Given the description of an element on the screen output the (x, y) to click on. 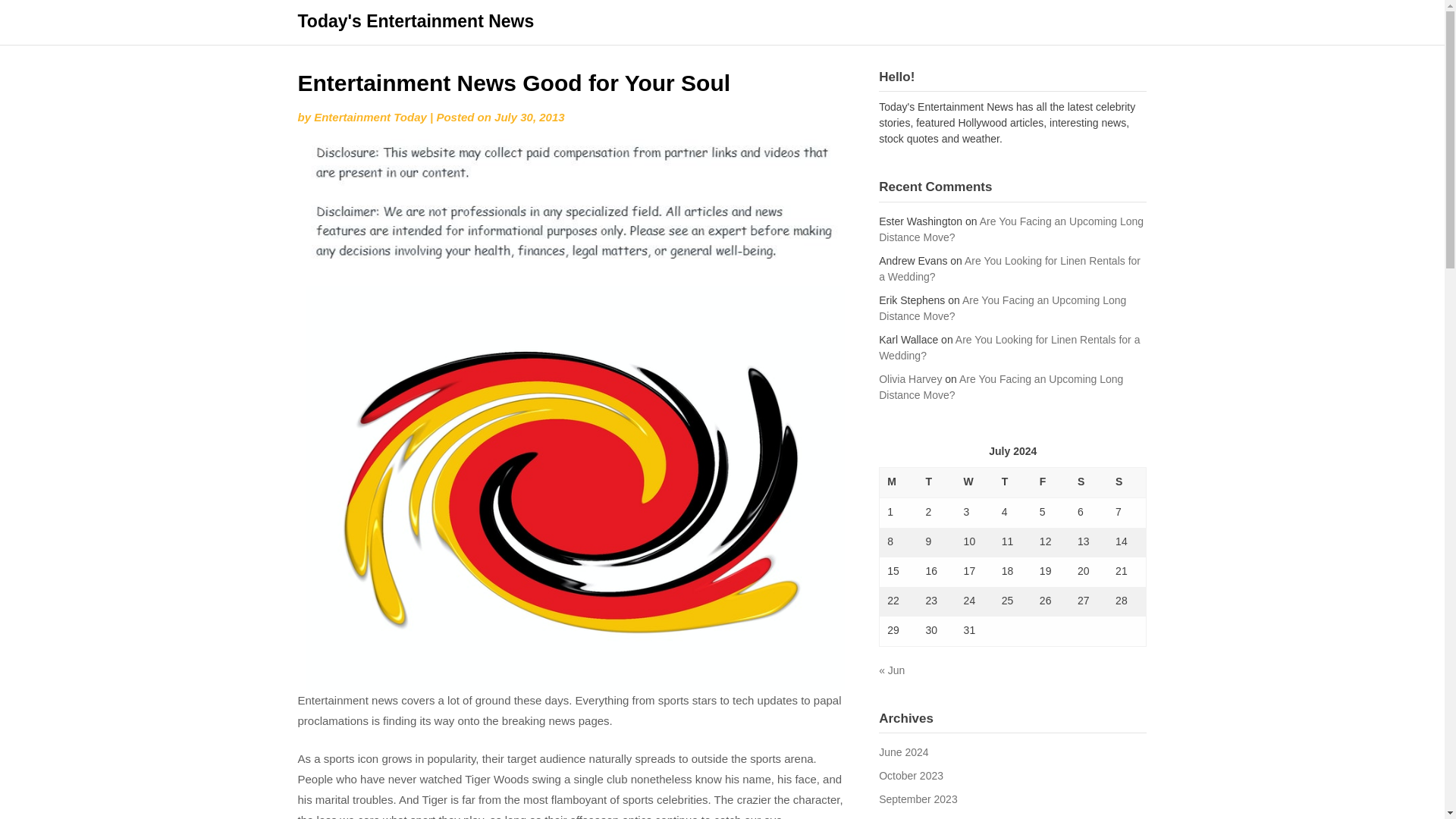
Entertainment Today (370, 116)
August 2023 (909, 817)
Are You Facing an Upcoming Long Distance Move? (1010, 229)
Today's Entertainment News (415, 21)
Are You Looking for Linen Rentals for a Wedding? (1009, 347)
Wednesday (975, 481)
Thursday (1013, 481)
July 30, 2013 (529, 116)
Sunday (1127, 481)
September 2023 (918, 799)
Are You Facing an Upcoming Long Distance Move? (1002, 308)
Are You Looking for Linen Rentals for a Wedding? (1009, 268)
Friday (1051, 481)
Monday (898, 481)
October 2023 (911, 775)
